Given the description of an element on the screen output the (x, y) to click on. 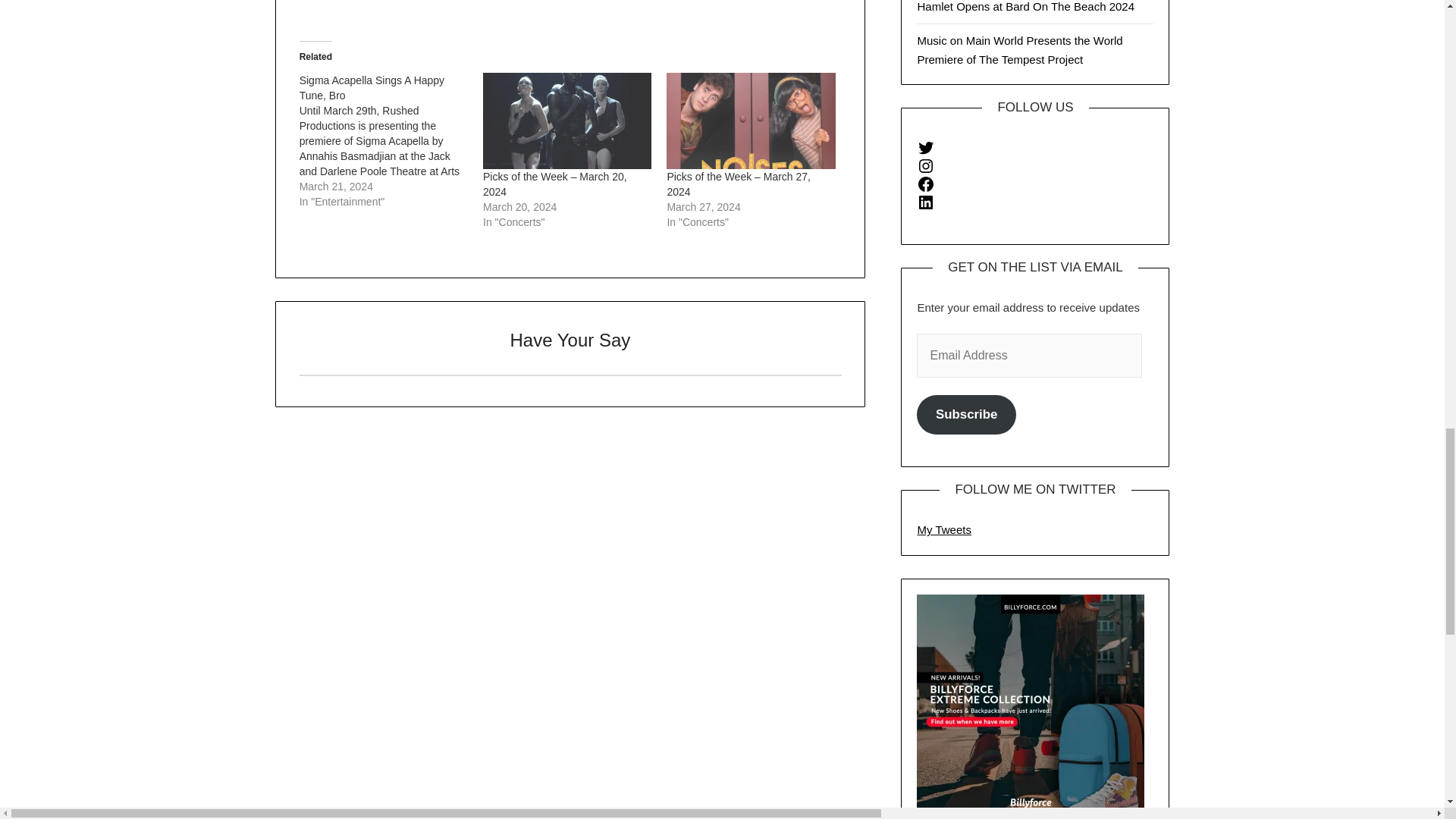
Sigma Acapella Sings A Happy Tune, Bro (371, 87)
Sigma Acapella Sings A Happy Tune, Bro (391, 140)
Sigma Acapella Sings A Happy Tune, Bro (371, 87)
Like or Reblog (570, 8)
